Given the description of an element on the screen output the (x, y) to click on. 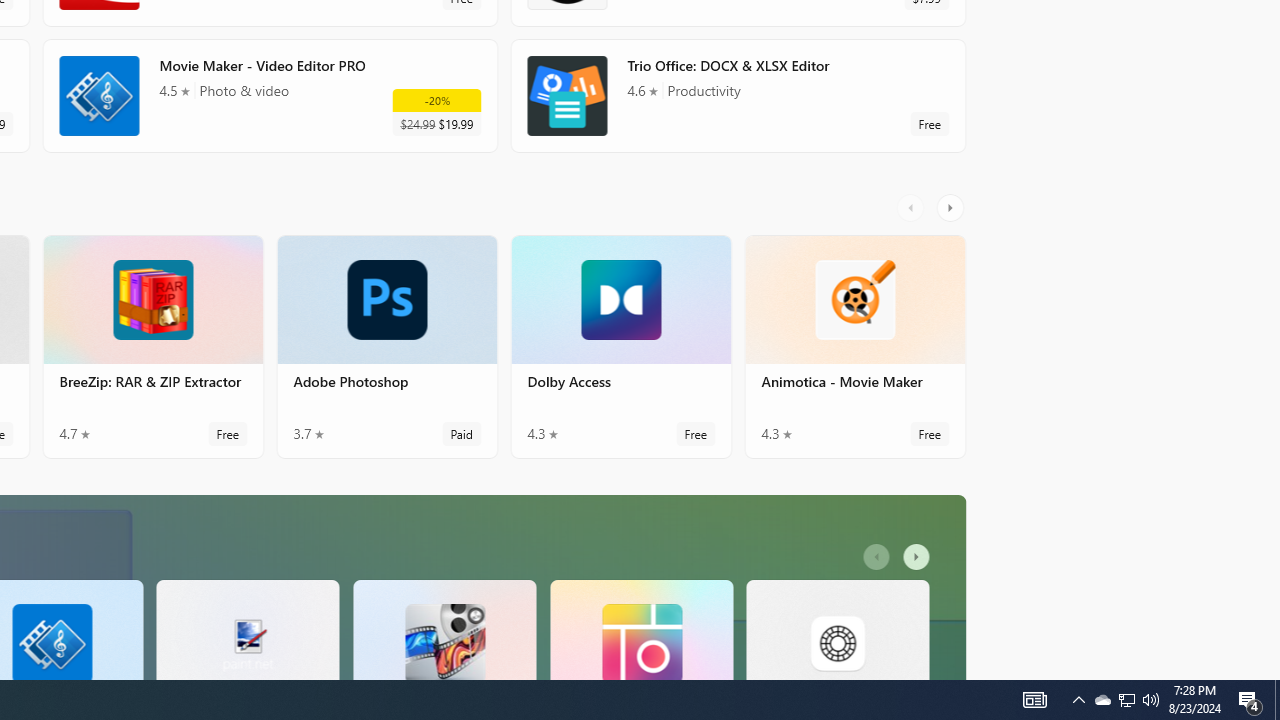
AutomationID: RightScrollButton (919, 557)
AutomationID: LeftScrollButton (878, 557)
Pic Collage. Average rating of 4.8 out of five stars. Free   (641, 628)
